Given the description of an element on the screen output the (x, y) to click on. 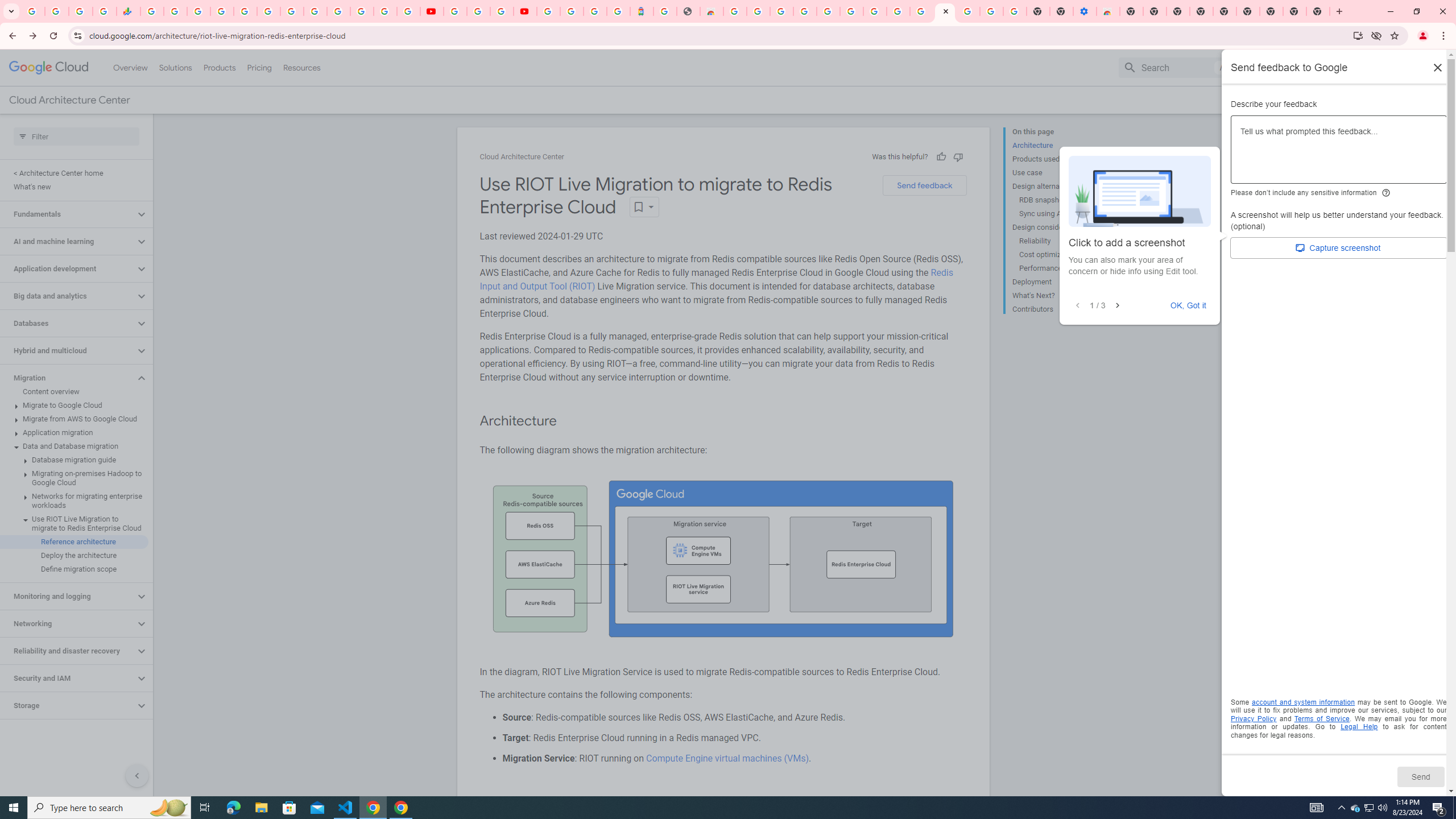
Describe your feedback (1338, 153)
Pricing (259, 67)
Products used (1058, 159)
Previous (1078, 305)
Sync using Active-Passive (1062, 213)
Solutions (175, 67)
New Tab (1318, 11)
Support (1296, 67)
account and system information (1303, 702)
